Given the description of an element on the screen output the (x, y) to click on. 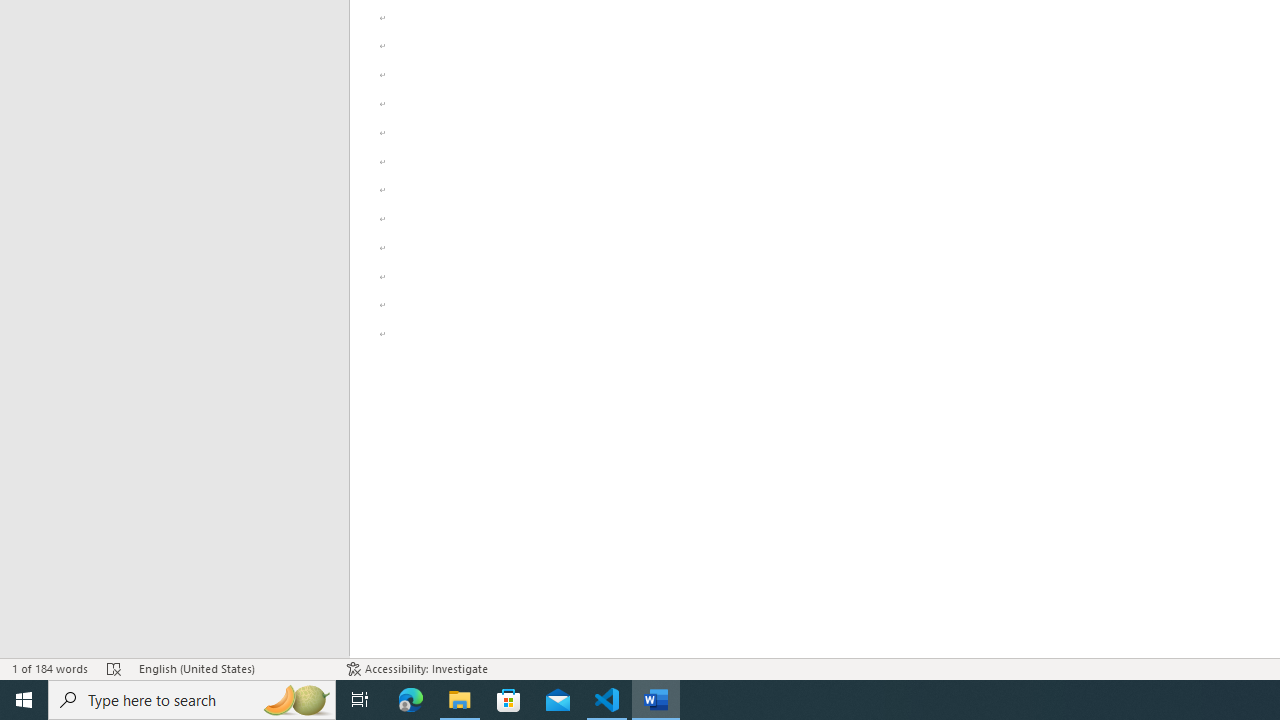
Word - 1 running window (656, 699)
